Given the description of an element on the screen output the (x, y) to click on. 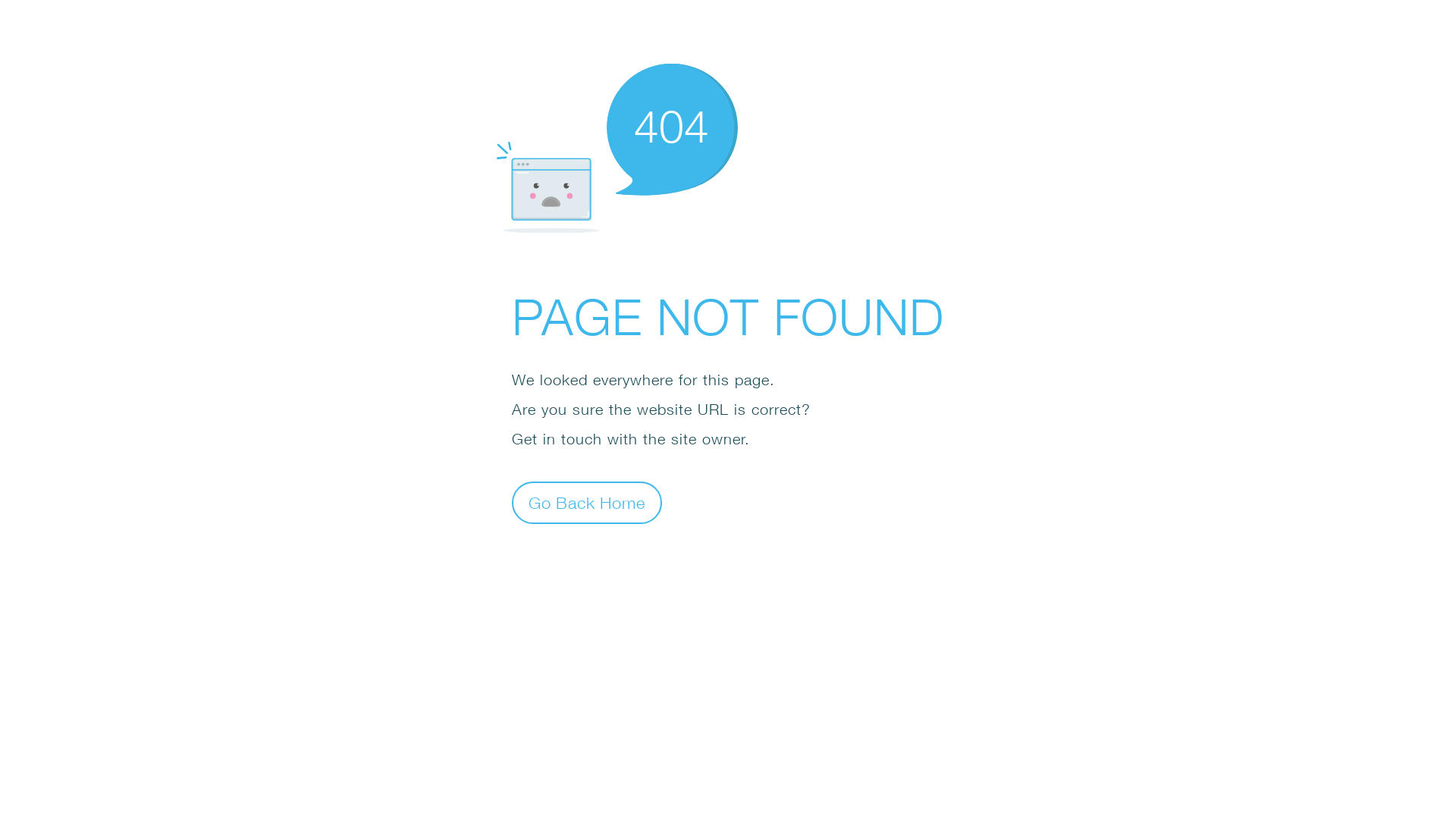
Go Back Home Element type: text (586, 502)
